Given the description of an element on the screen output the (x, y) to click on. 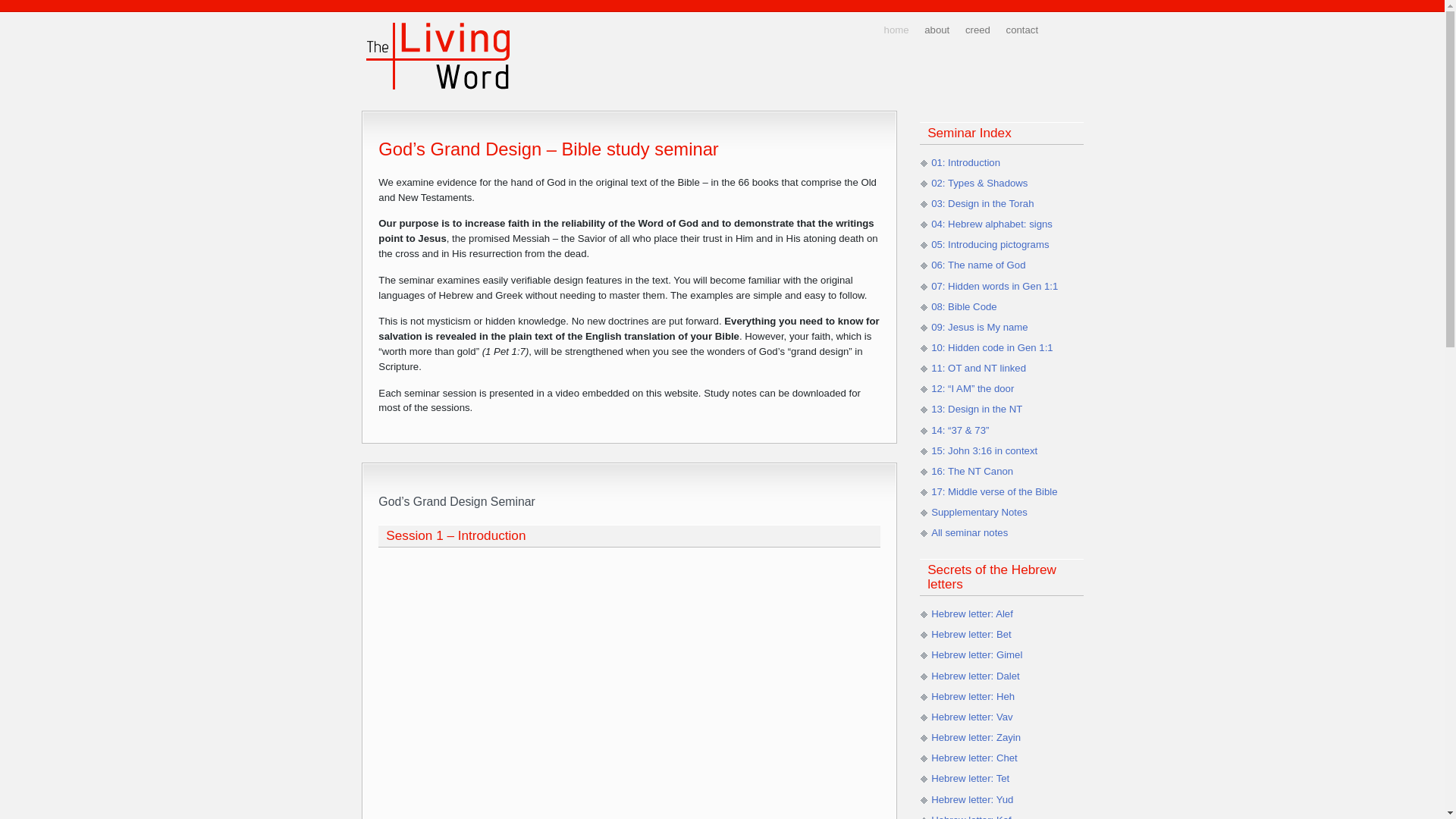
06: The name of God Element type: text (978, 264)
Hebrew letter: Heh Element type: text (972, 696)
08: Bible Code Element type: text (964, 306)
Hebrew letter: Alef Element type: text (972, 613)
11: OT and NT linked Element type: text (978, 367)
Hebrew letter: Gimel Element type: text (976, 654)
Supplementary Notes Element type: text (979, 511)
home Element type: text (897, 29)
Hebrew letter: Yud Element type: text (972, 799)
07: Hidden words in Gen 1:1 Element type: text (994, 285)
02: Types & Shadows Element type: text (979, 182)
01: Introduction Element type: text (965, 162)
16: The NT Canon Element type: text (972, 470)
15: John 3:16 in context Element type: text (984, 450)
10: Hidden code in Gen 1:1 Element type: text (992, 347)
Hebrew letter: Bet Element type: text (971, 634)
All seminar notes Element type: text (969, 532)
17: Middle verse of the Bible Element type: text (994, 491)
about Element type: text (938, 29)
05: Introducing pictograms Element type: text (989, 244)
Hebrew letter: Chet Element type: text (974, 757)
Hebrew letter: Tet Element type: text (970, 778)
04: Hebrew alphabet: signs Element type: text (991, 223)
03: Design in the Torah Element type: text (982, 203)
Hebrew letter: Zayin Element type: text (975, 737)
Hebrew letter: Dalet Element type: text (975, 675)
creed Element type: text (978, 29)
contact Element type: text (1023, 29)
13: Design in the NT Element type: text (976, 408)
Hebrew letter: Vav Element type: text (972, 716)
09: Jesus is My name Element type: text (979, 326)
